Given the description of an element on the screen output the (x, y) to click on. 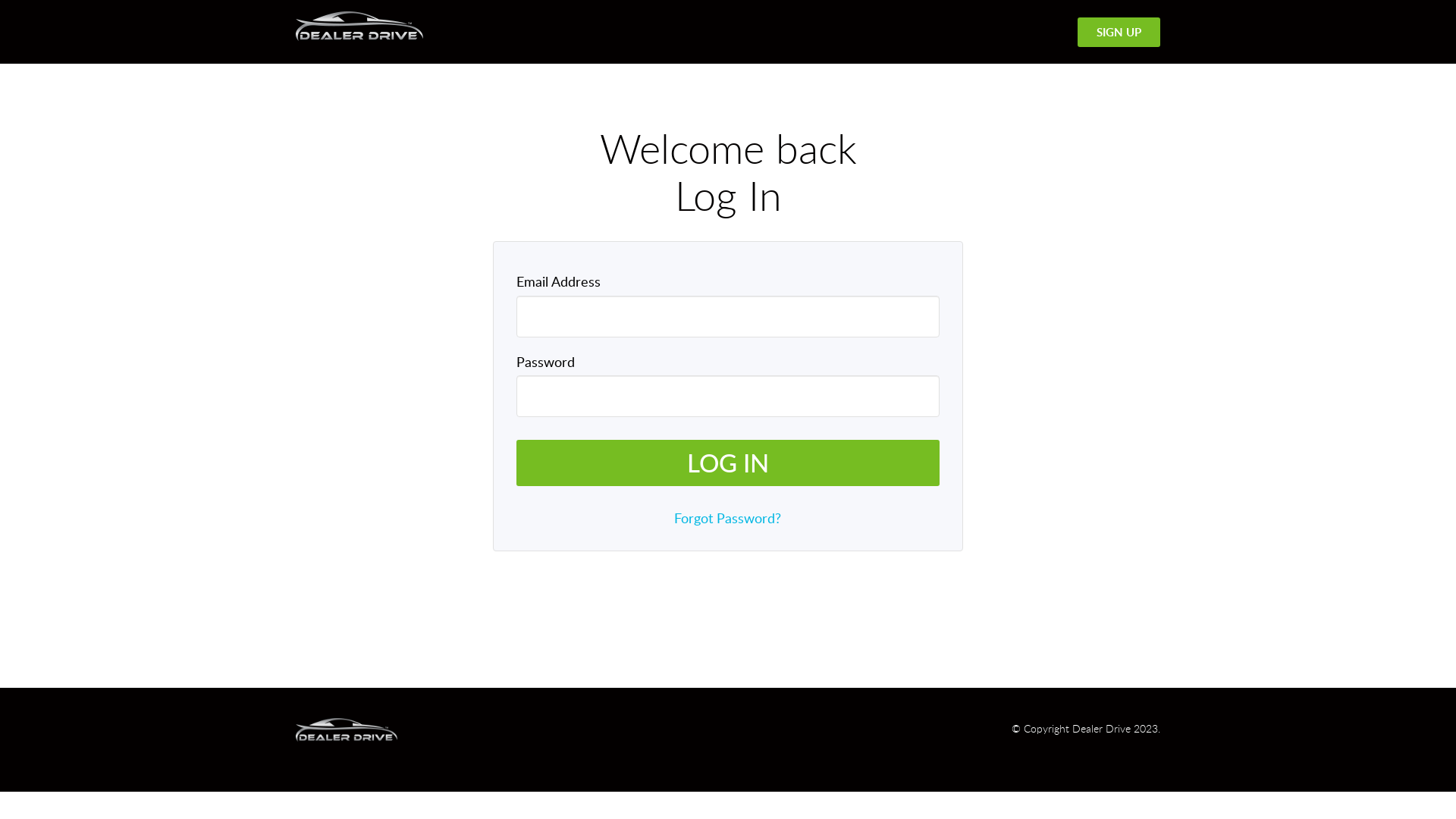
LOG IN Element type: text (727, 462)
Forgot Password? Element type: text (727, 517)
SIGN UP Element type: text (1118, 32)
